Given the description of an element on the screen output the (x, y) to click on. 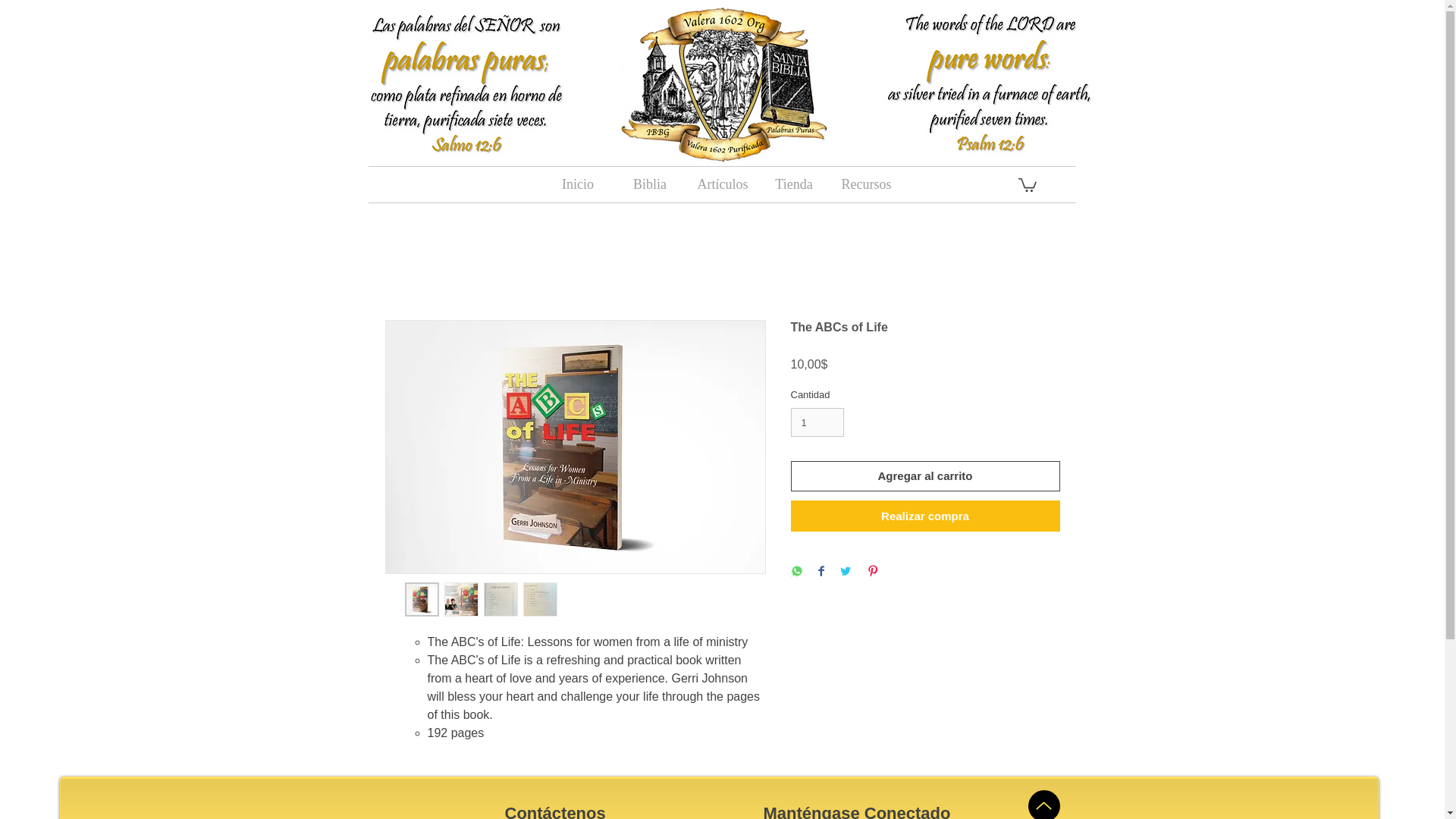
Agregar al carrito (924, 476)
Biblia (649, 184)
Inicio (576, 184)
1 (817, 421)
Recursos (865, 184)
Realizar compra (924, 515)
Tienda (793, 184)
